Given the description of an element on the screen output the (x, y) to click on. 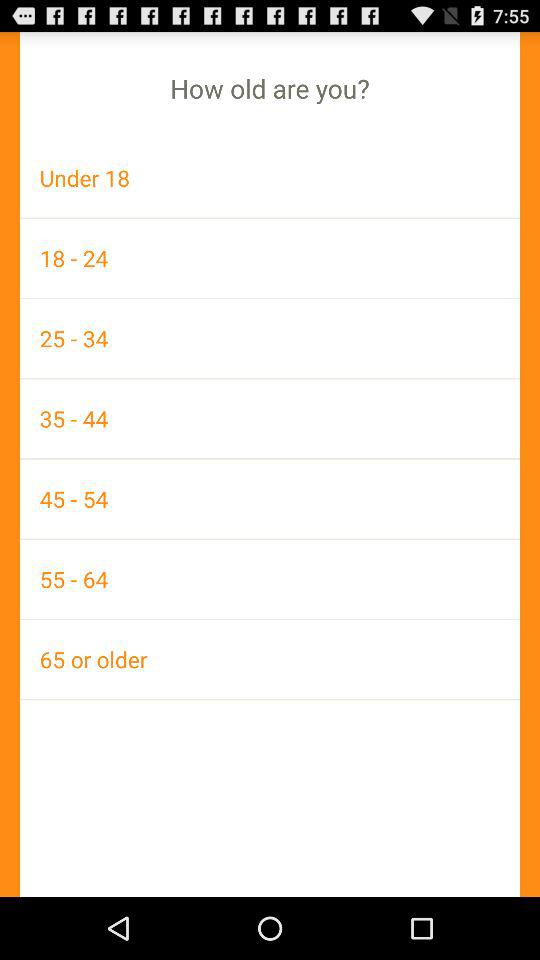
click icon below the 18 - 24 icon (269, 338)
